Given the description of an element on the screen output the (x, y) to click on. 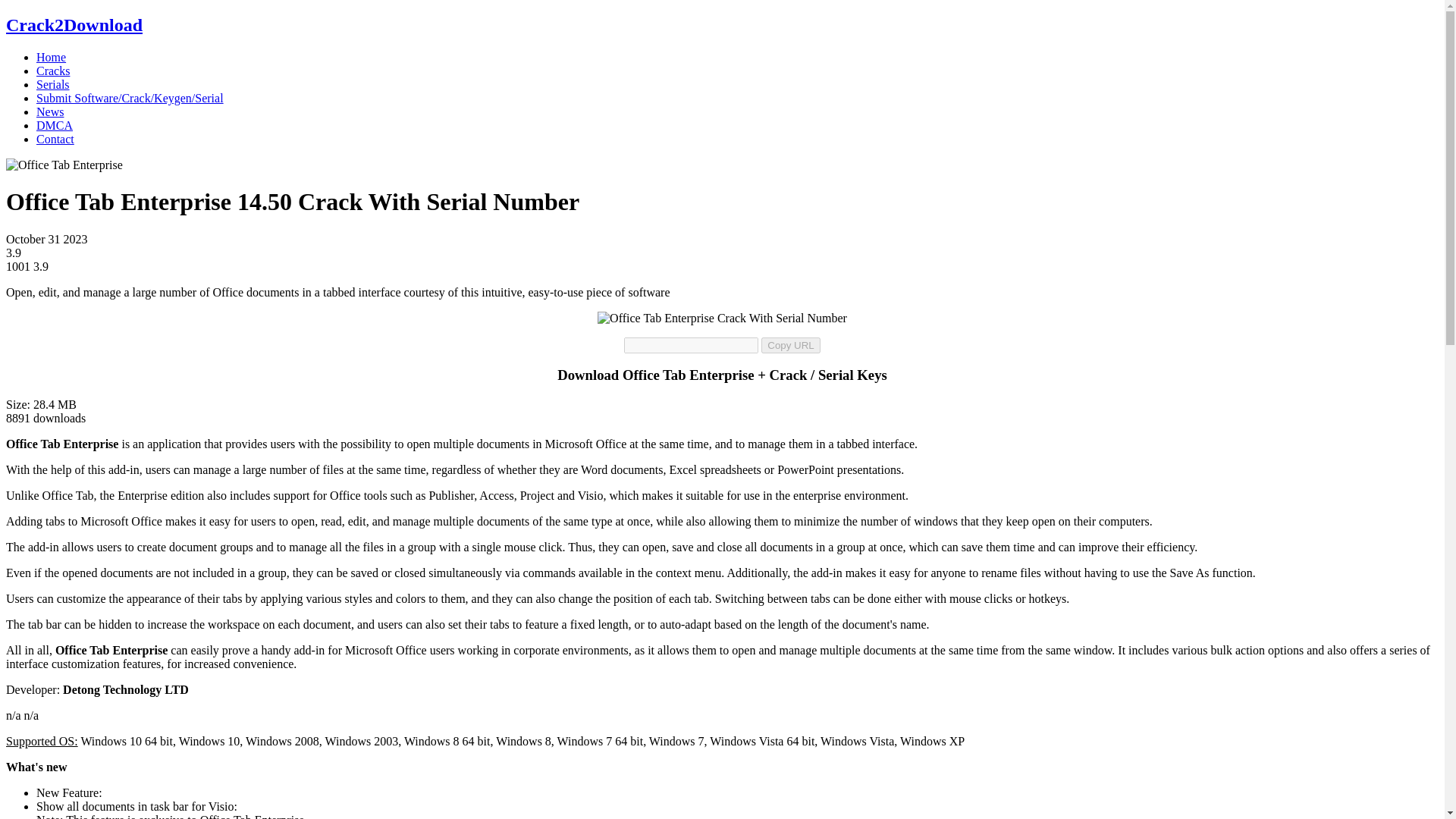
Serials (52, 83)
Cracks (52, 70)
Copy URL (790, 344)
Crack2Download (73, 25)
DMCA (54, 124)
Contact (55, 138)
Home (50, 56)
News (50, 111)
